Given the description of an element on the screen output the (x, y) to click on. 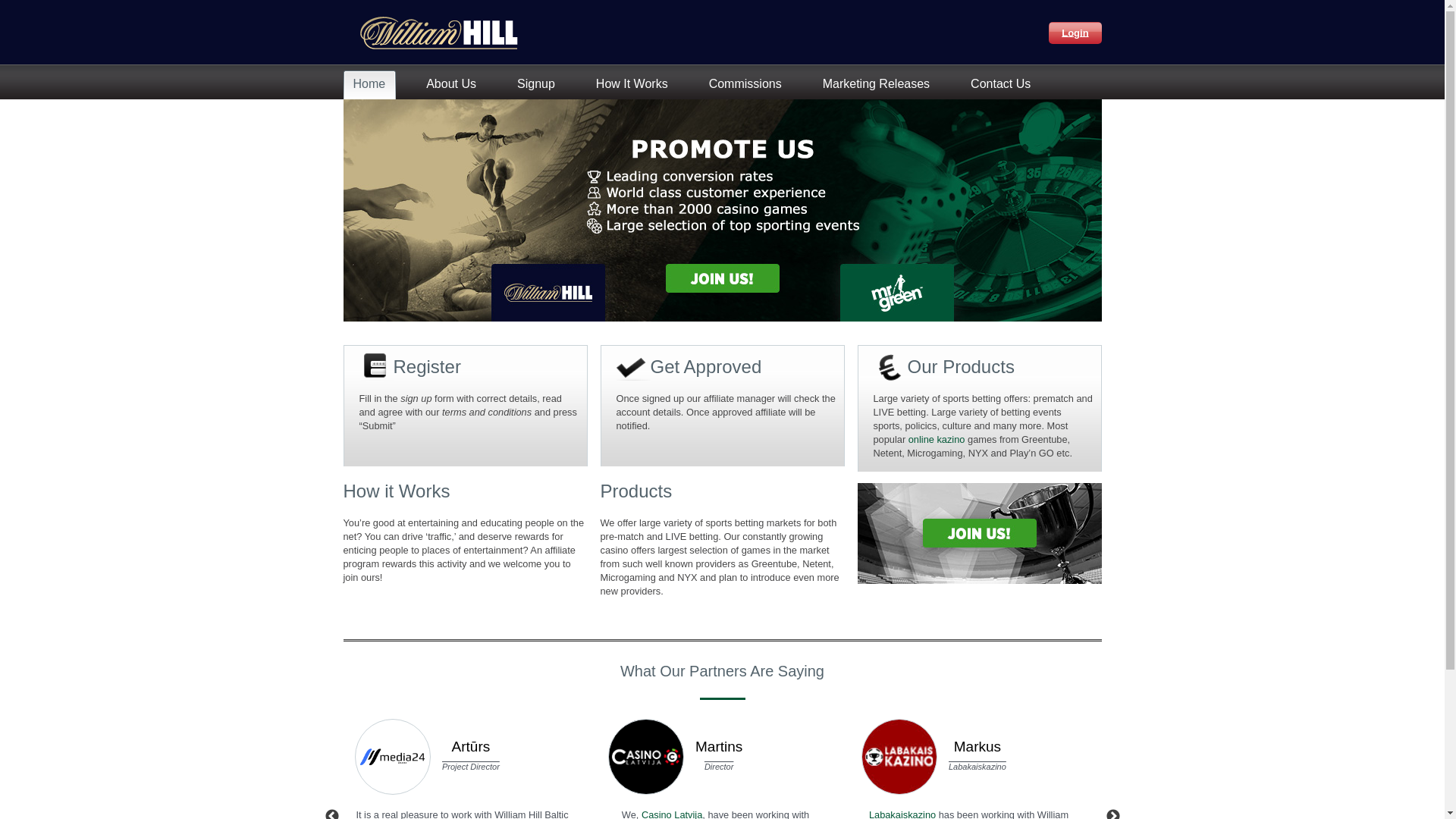
online kazino Element type: text (936, 439)
Marketing Releases Element type: text (879, 84)
Home Element type: text (371, 84)
Commissions Element type: text (748, 84)
Contact Us Element type: text (1003, 84)
Login Element type: text (1074, 32)
Signup Element type: text (539, 84)
How It Works Element type: text (635, 84)
About Us Element type: text (454, 84)
